Given the description of an element on the screen output the (x, y) to click on. 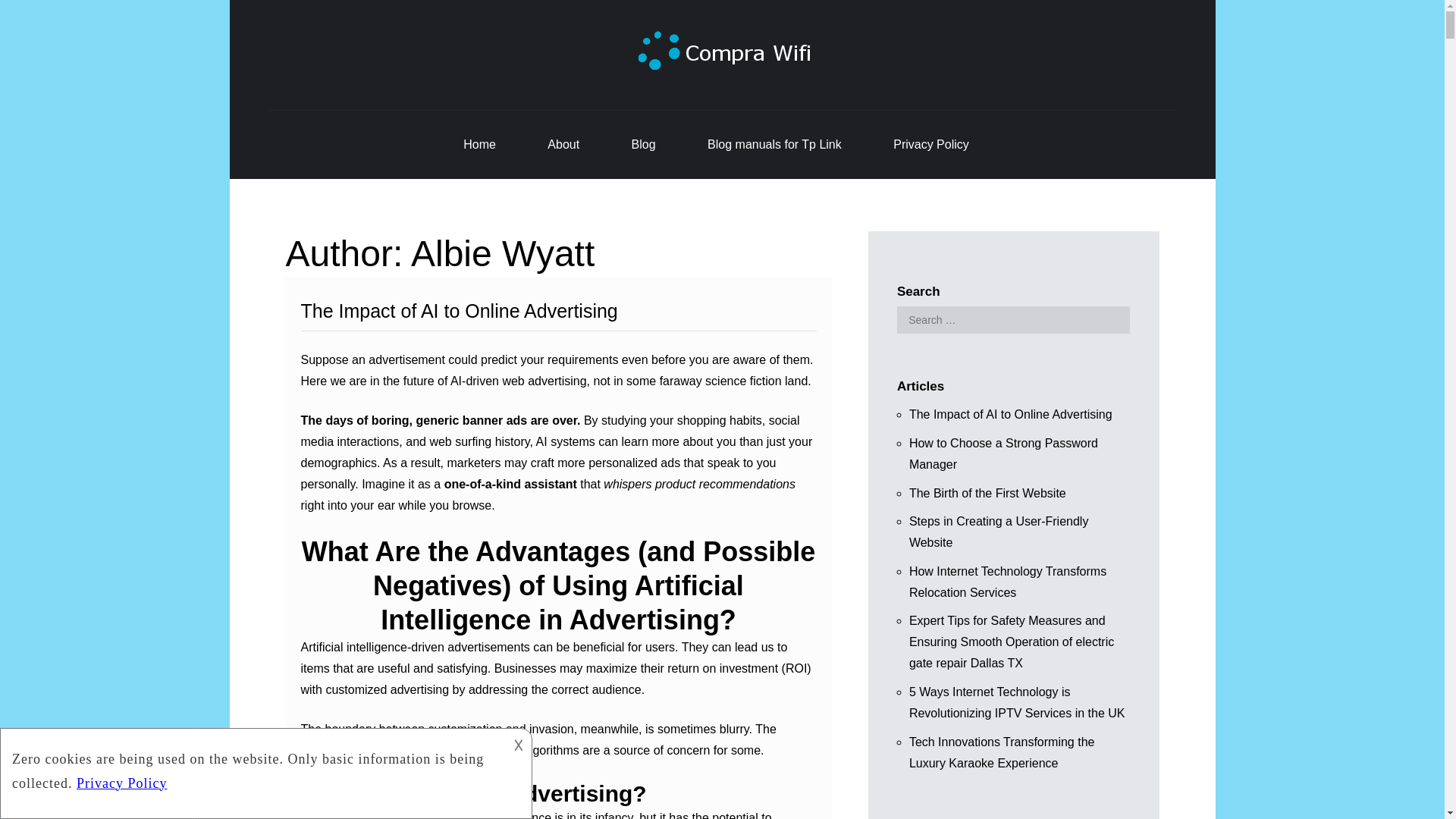
Privacy Policy (931, 144)
Blog manuals for Tp Link (774, 144)
The Impact of AI to Online Advertising (458, 310)
About (563, 144)
Blog (643, 144)
Home (479, 144)
Albie Wyatt (502, 253)
Albie Wyatt (502, 253)
